Given the description of an element on the screen output the (x, y) to click on. 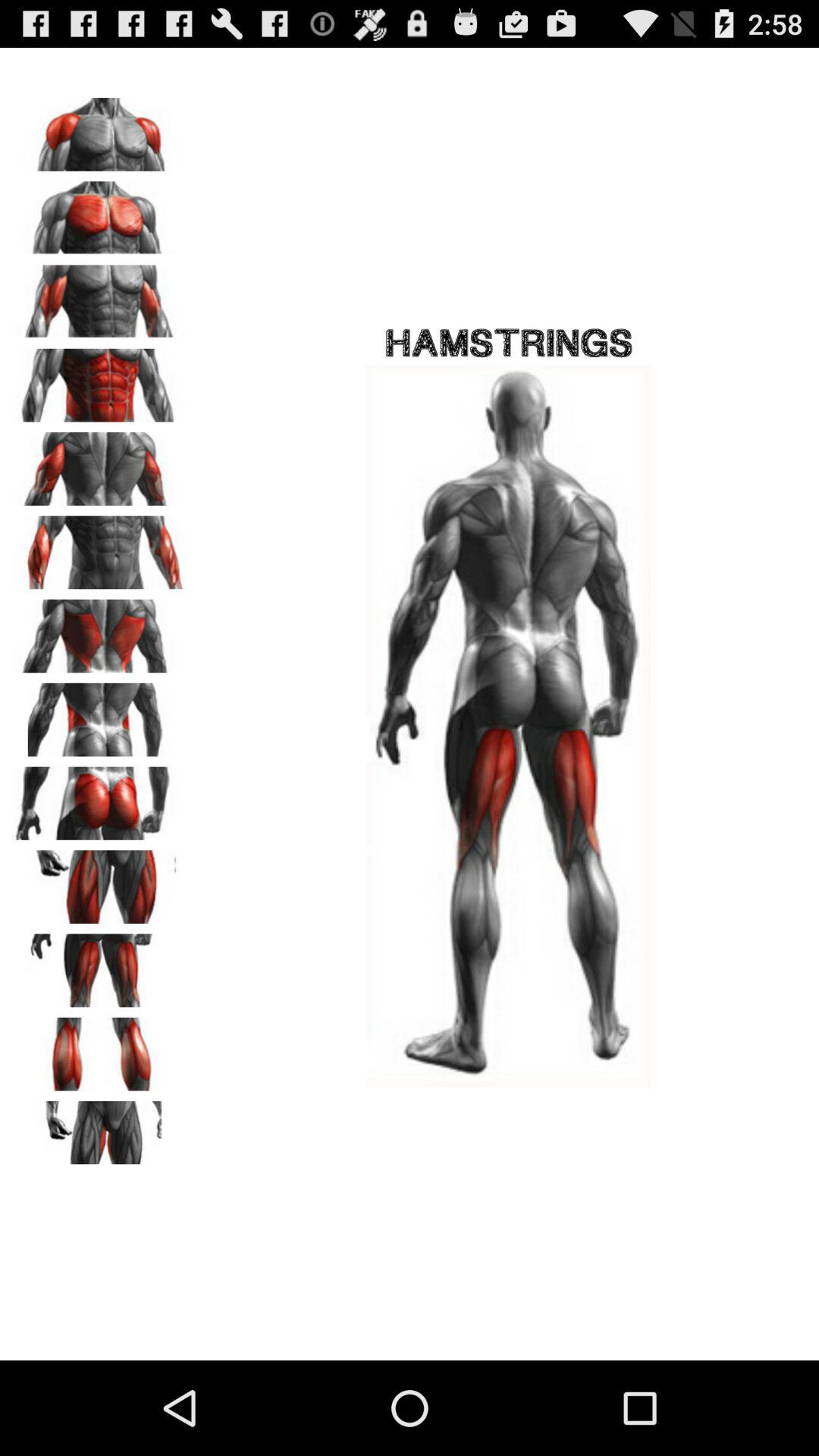
picture selection (99, 129)
